Given the description of an element on the screen output the (x, y) to click on. 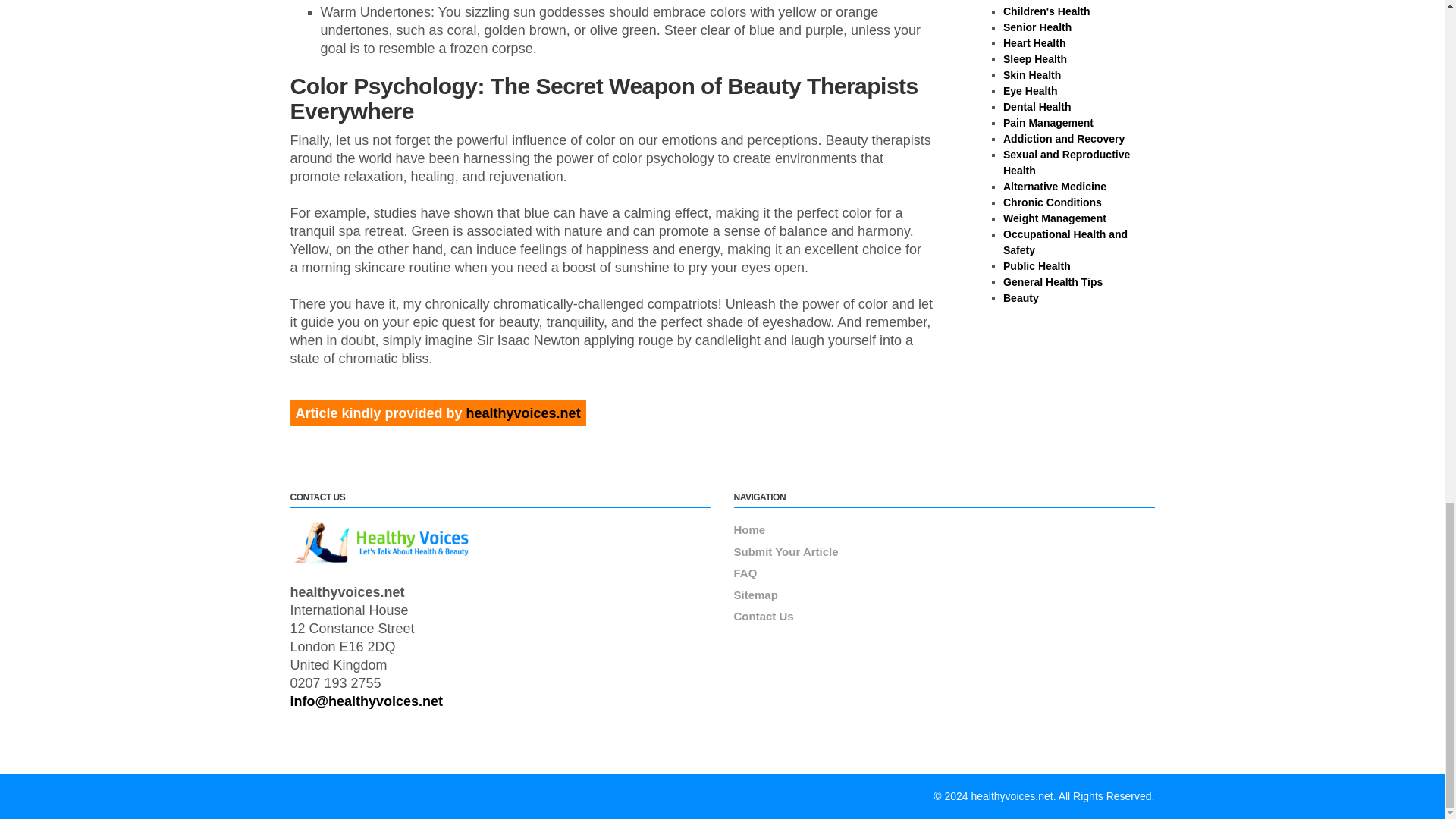
Senior Health (1037, 27)
Sleep Health (1035, 59)
Heart Health (1034, 42)
healthyvoices.net (522, 412)
Men's Health (1035, 0)
Children's Health (1046, 10)
